Given the description of an element on the screen output the (x, y) to click on. 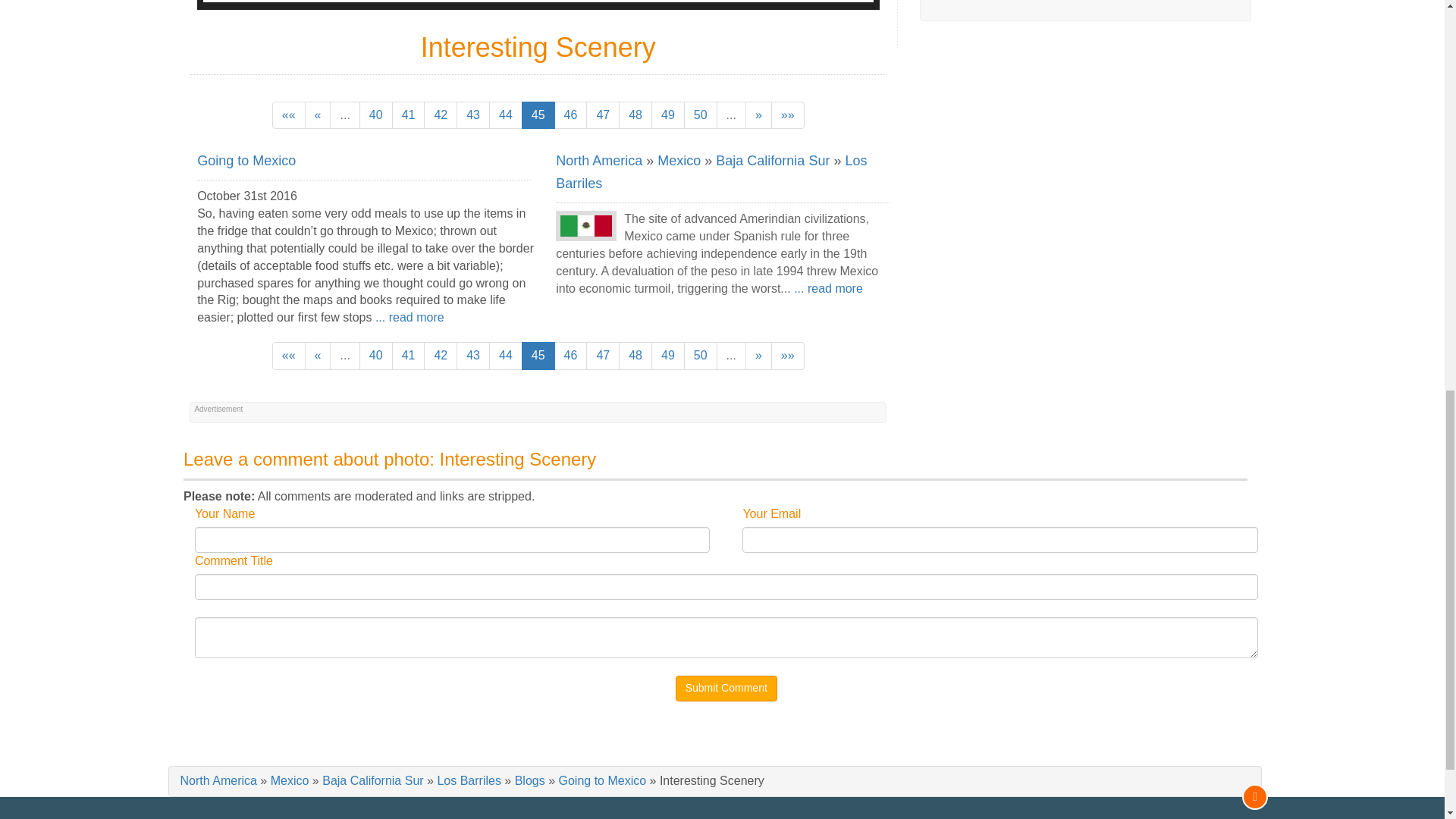
First (288, 115)
Previous (317, 115)
next (758, 115)
